Given the description of an element on the screen output the (x, y) to click on. 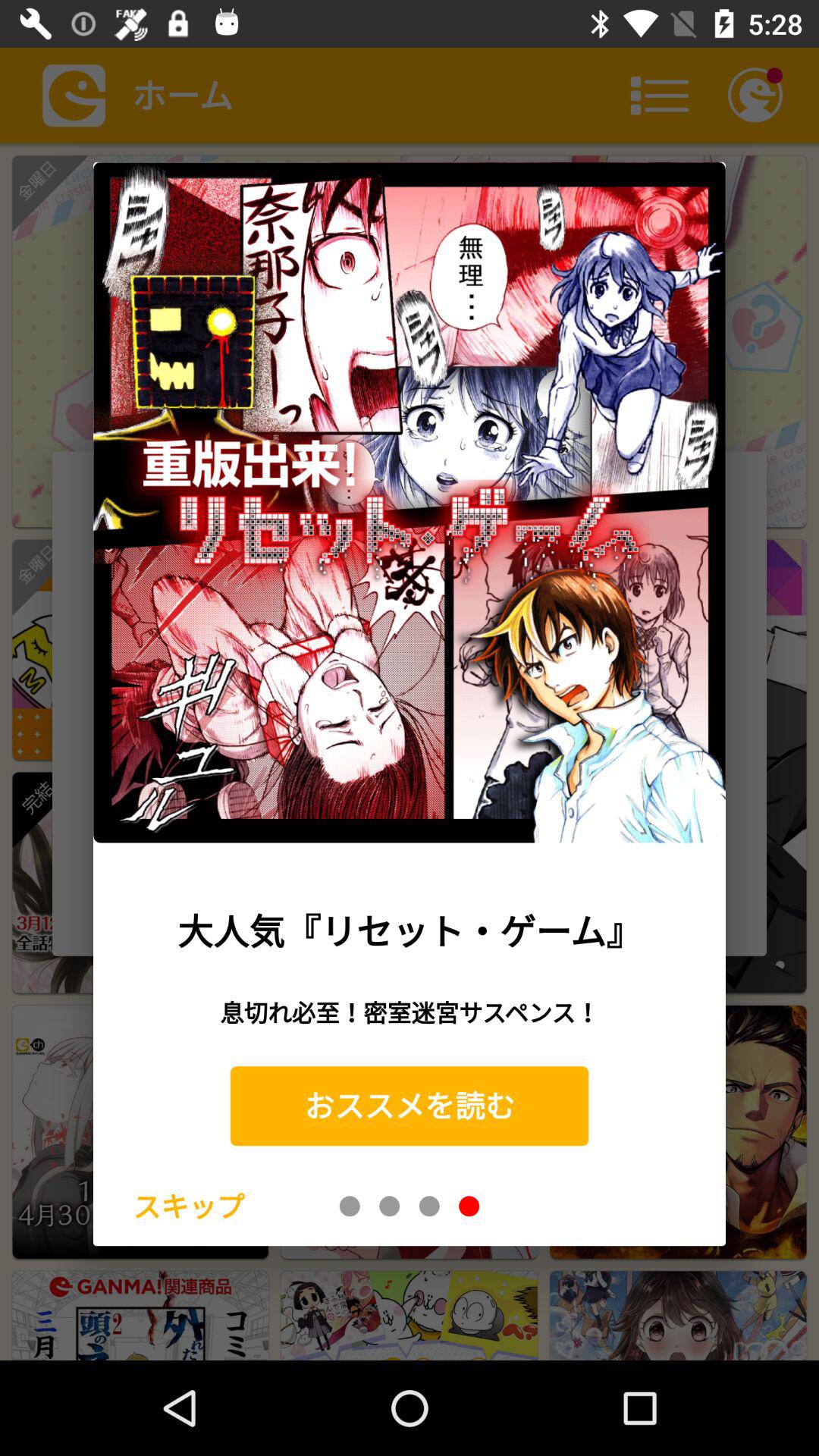
click item at the bottom left corner (188, 1206)
